Given the description of an element on the screen output the (x, y) to click on. 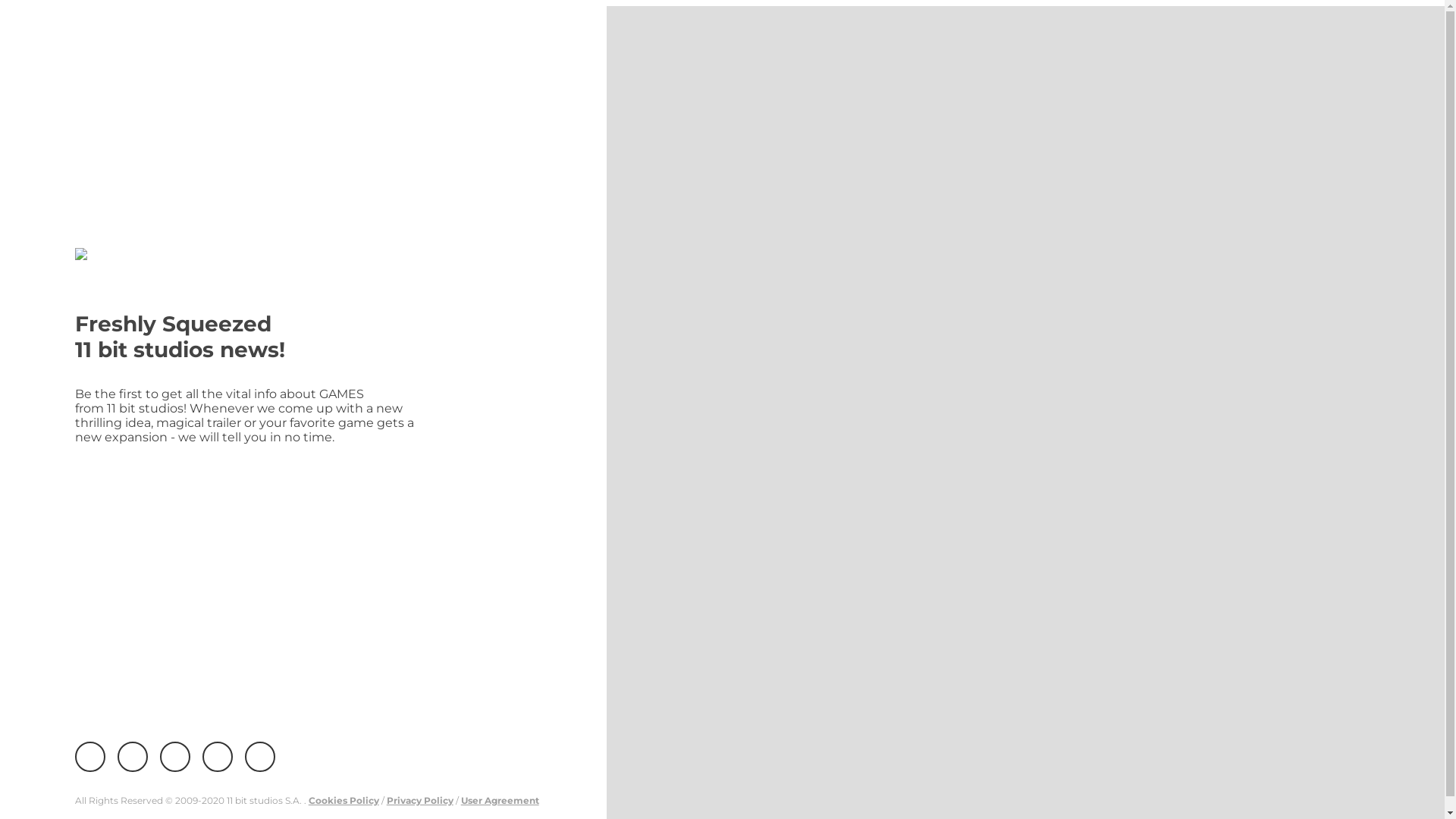
Cookies Policy Element type: text (343, 800)
Privacy Policy Element type: text (419, 800)
User Agreement Element type: text (500, 800)
